Given the description of an element on the screen output the (x, y) to click on. 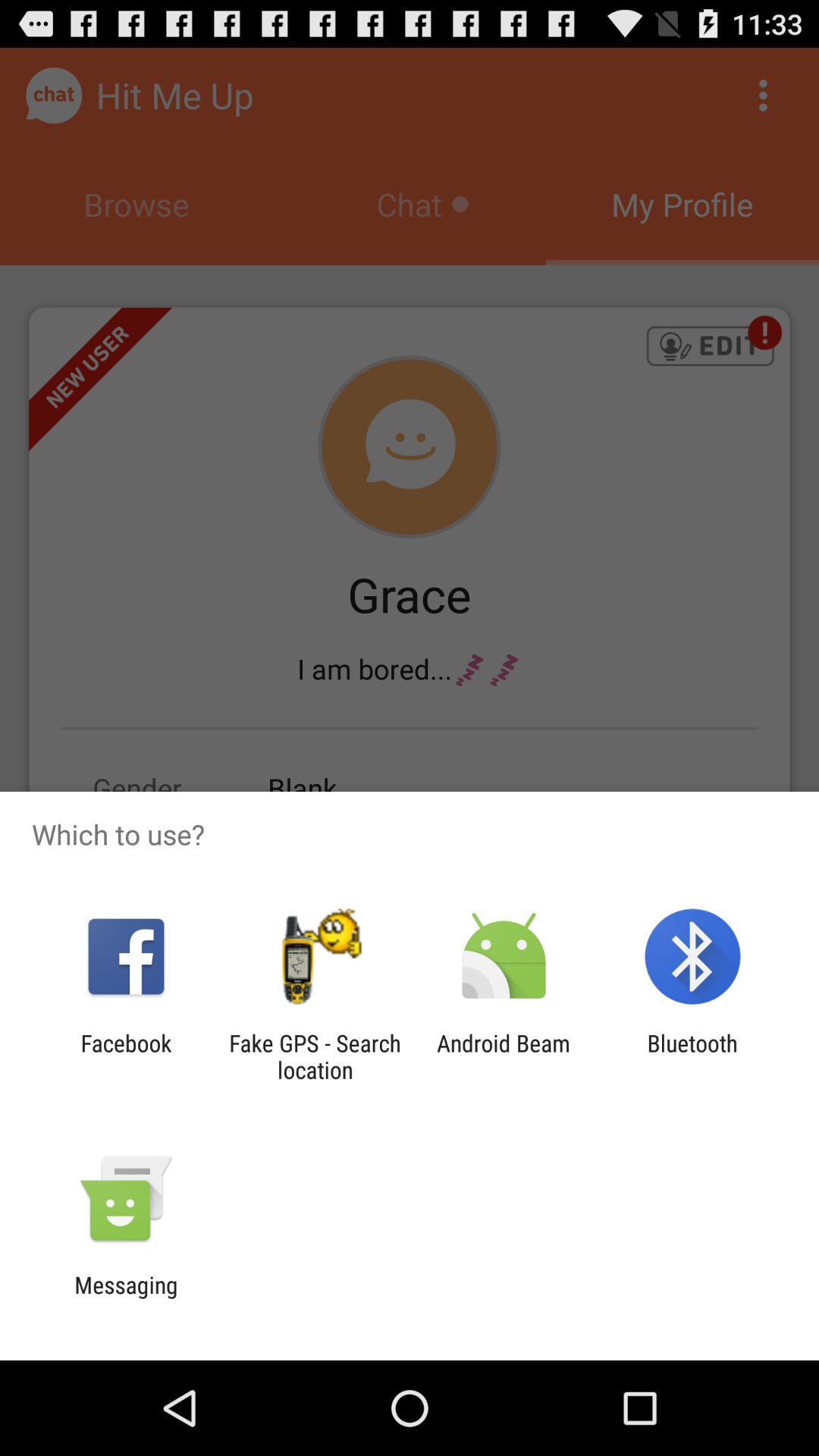
turn off android beam icon (503, 1056)
